Given the description of an element on the screen output the (x, y) to click on. 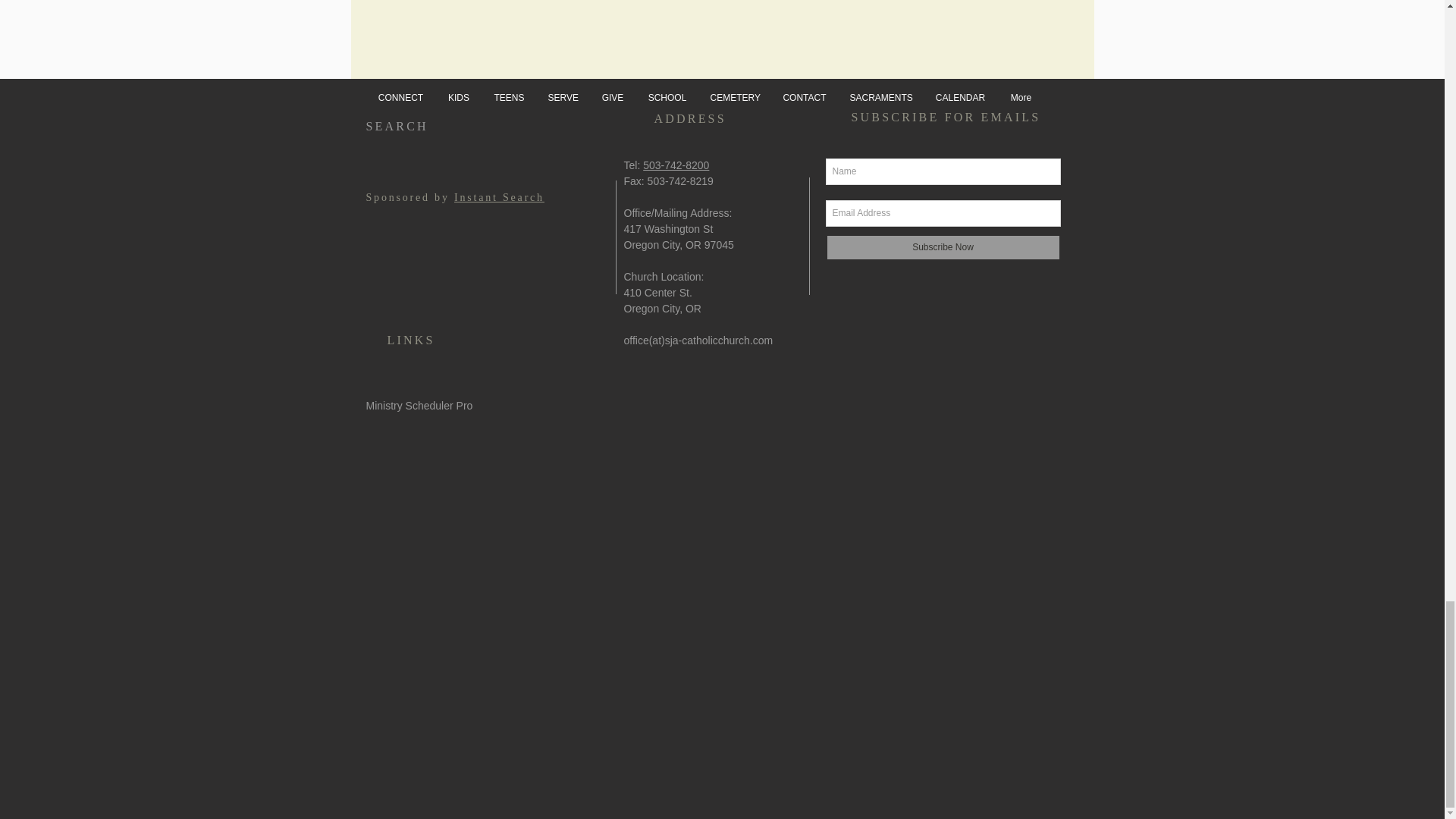
CONNECT (400, 97)
CALENDAR (959, 97)
SACRAMENTS (881, 97)
TEENS (509, 97)
SCHOOL (666, 97)
Site Search (478, 178)
CEMETERY (734, 97)
CONTACT (804, 97)
GIVE (612, 97)
KIDS (458, 97)
SERVE (563, 97)
